Given the description of an element on the screen output the (x, y) to click on. 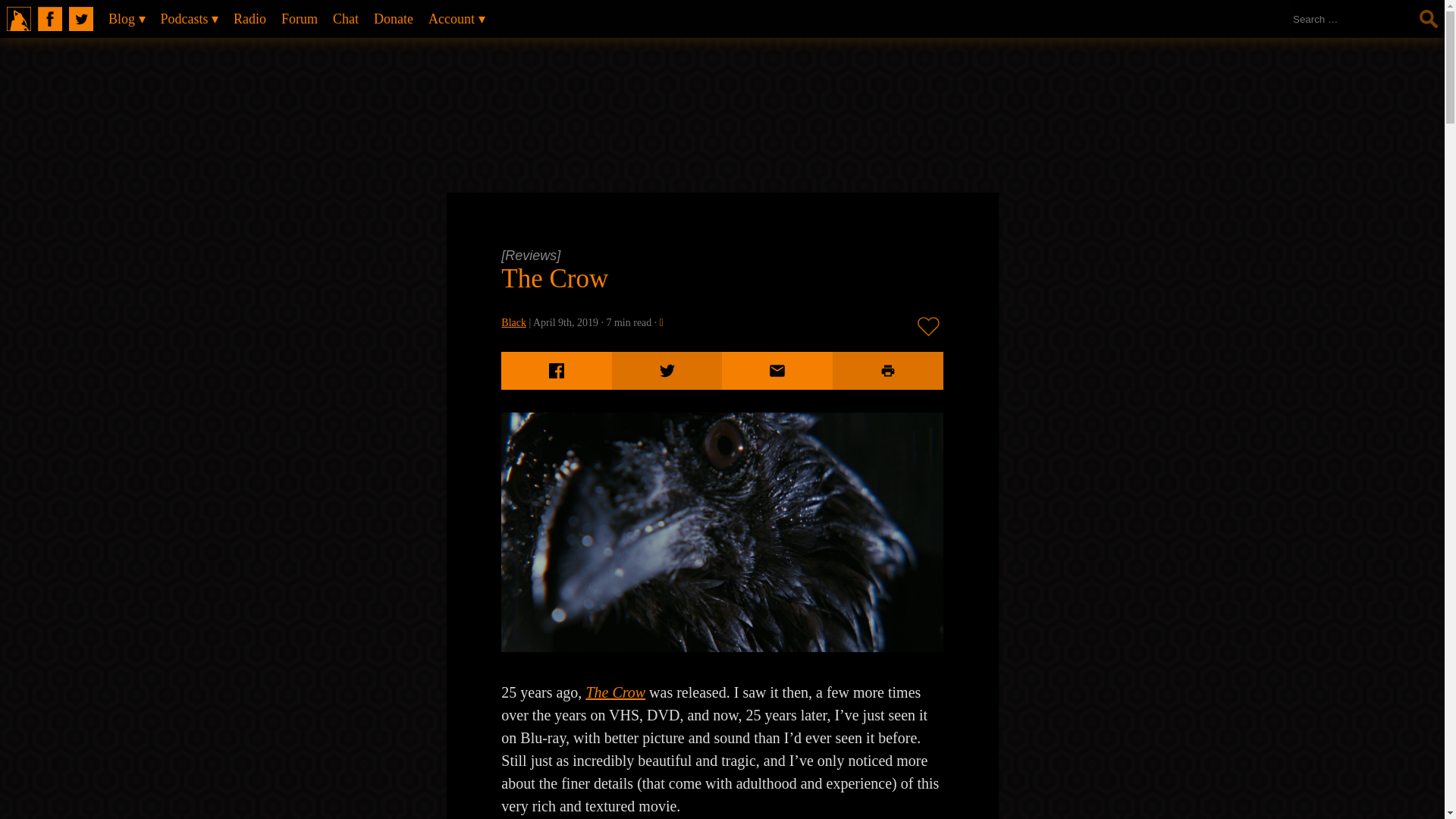
Account (456, 18)
Radio (249, 18)
The Crow (615, 692)
Forum (298, 18)
The Crow (554, 278)
Black (512, 322)
Podcasts (189, 18)
Print this Article (887, 370)
The Crow (721, 646)
The Crow (554, 278)
